Given the description of an element on the screen output the (x, y) to click on. 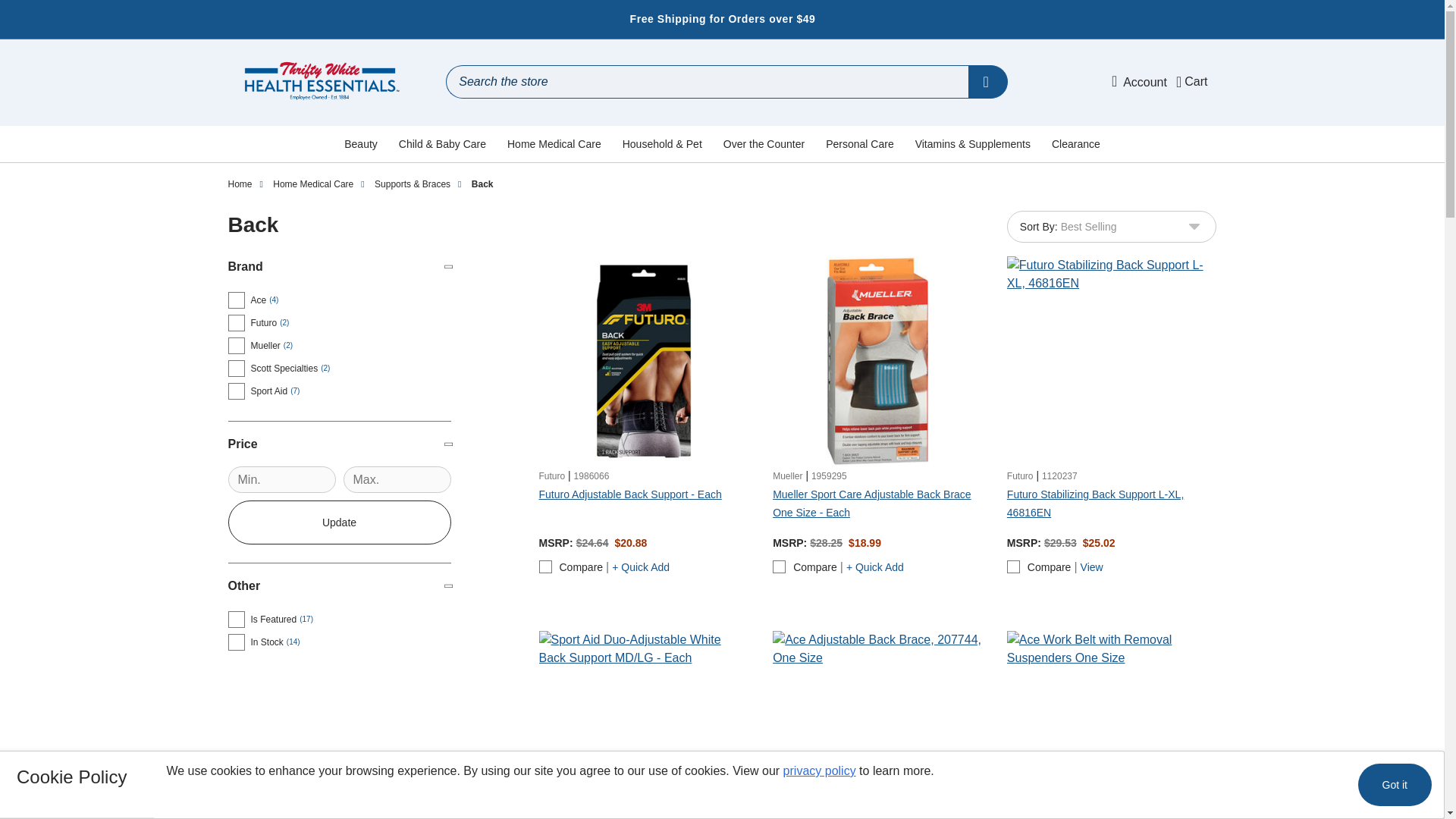
Futuro Adjustable Back Support - Each (643, 361)
Ace Work Belt with Removal Suspenders One Size (1112, 724)
Beauty (360, 144)
Update (338, 522)
Ace Adjustable Back Brace, 207744, One Size (877, 724)
Mueller Sport Care Adjustable Back Brace One Size - Each (877, 361)
Futuro Stabilizing Back Support L-XL, 46816EN (1112, 361)
